Given the description of an element on the screen output the (x, y) to click on. 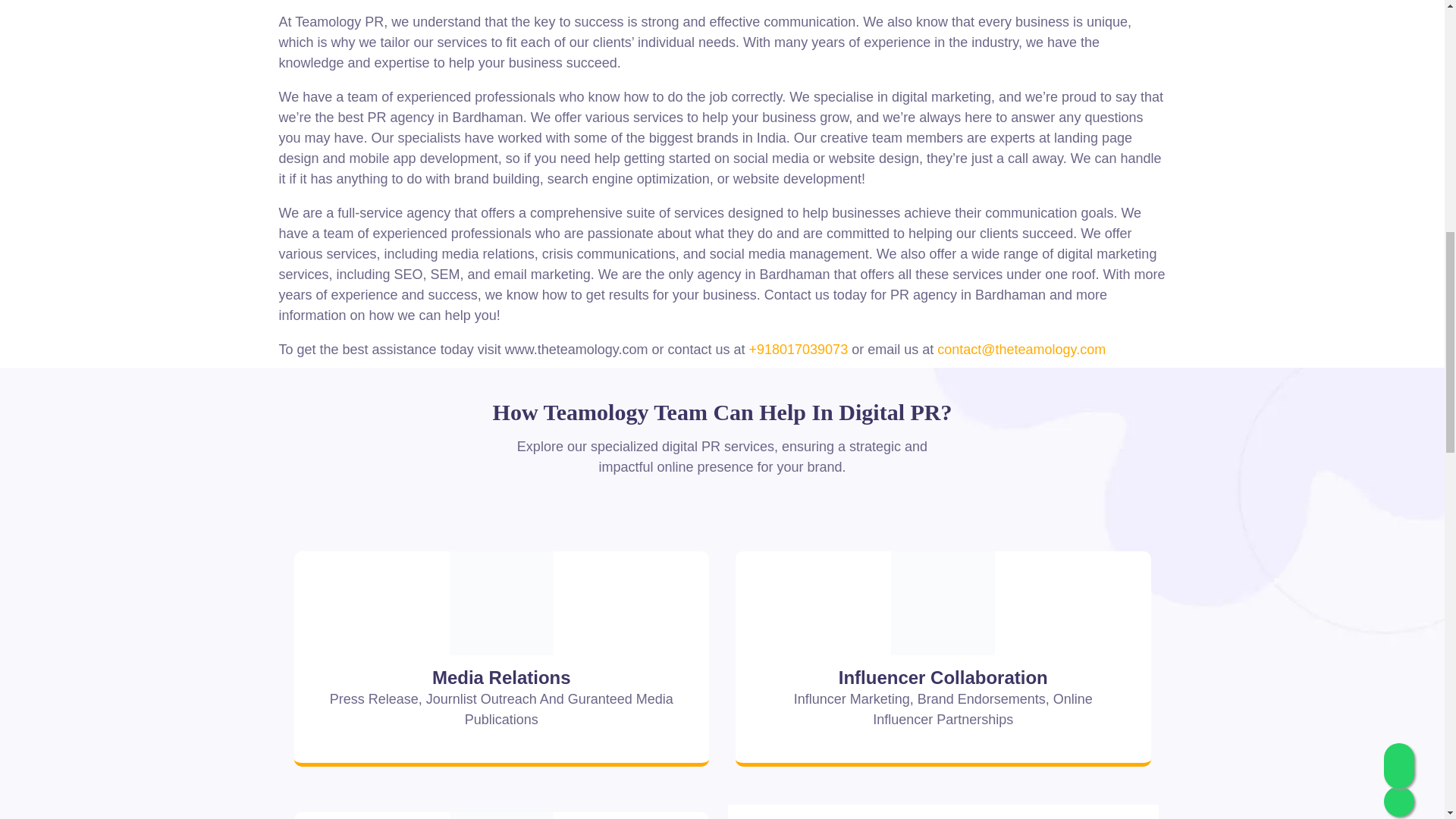
online branding-01 (501, 815)
influncerr-01 (942, 603)
Digital PR (501, 603)
